Given the description of an element on the screen output the (x, y) to click on. 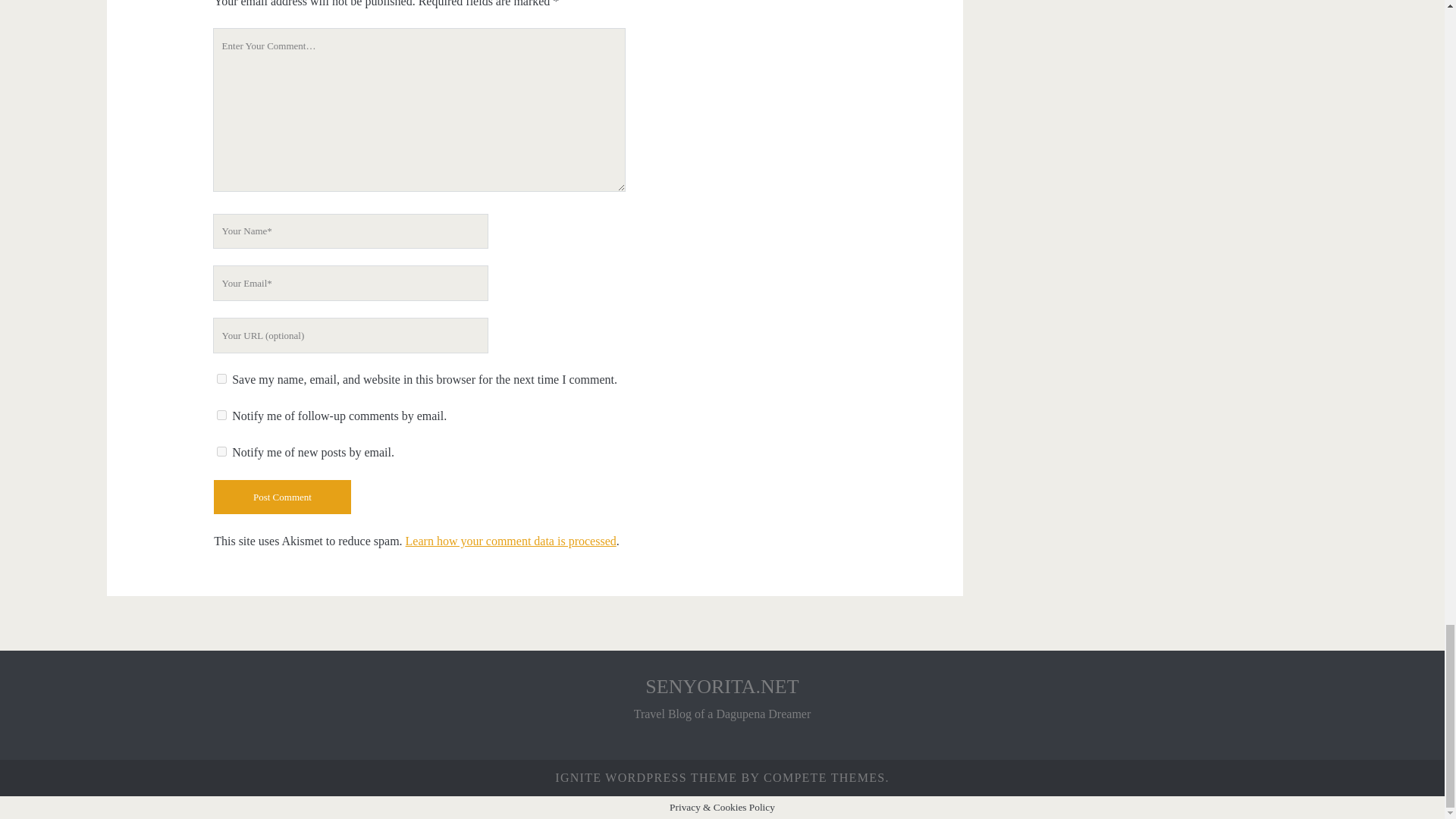
Post Comment (282, 496)
subscribe (221, 451)
yes (221, 378)
subscribe (221, 415)
